Given the description of an element on the screen output the (x, y) to click on. 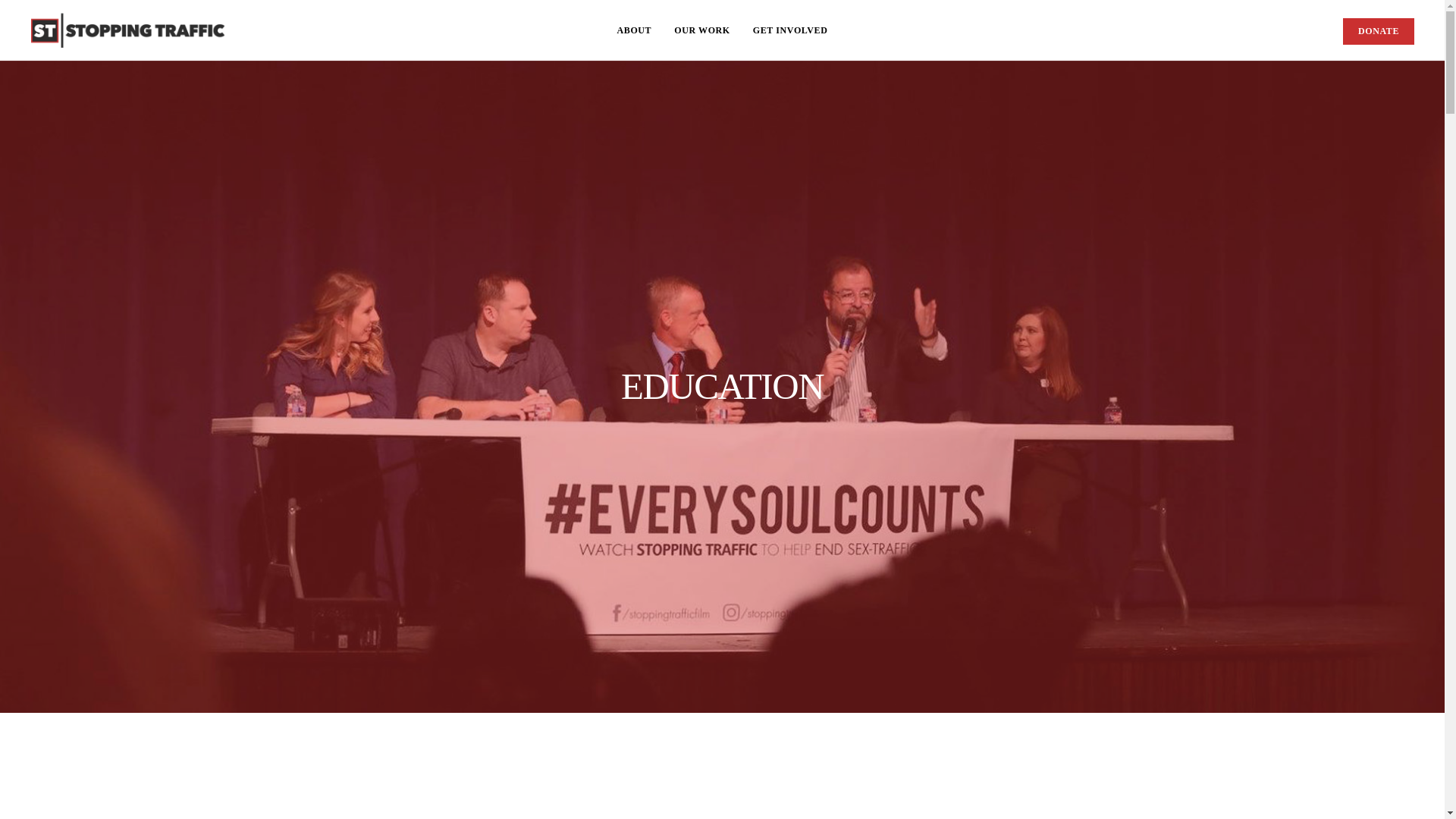
GET INVOLVED (790, 30)
ABOUT (634, 30)
DONATE (1377, 31)
OUR WORK (701, 30)
